Given the description of an element on the screen output the (x, y) to click on. 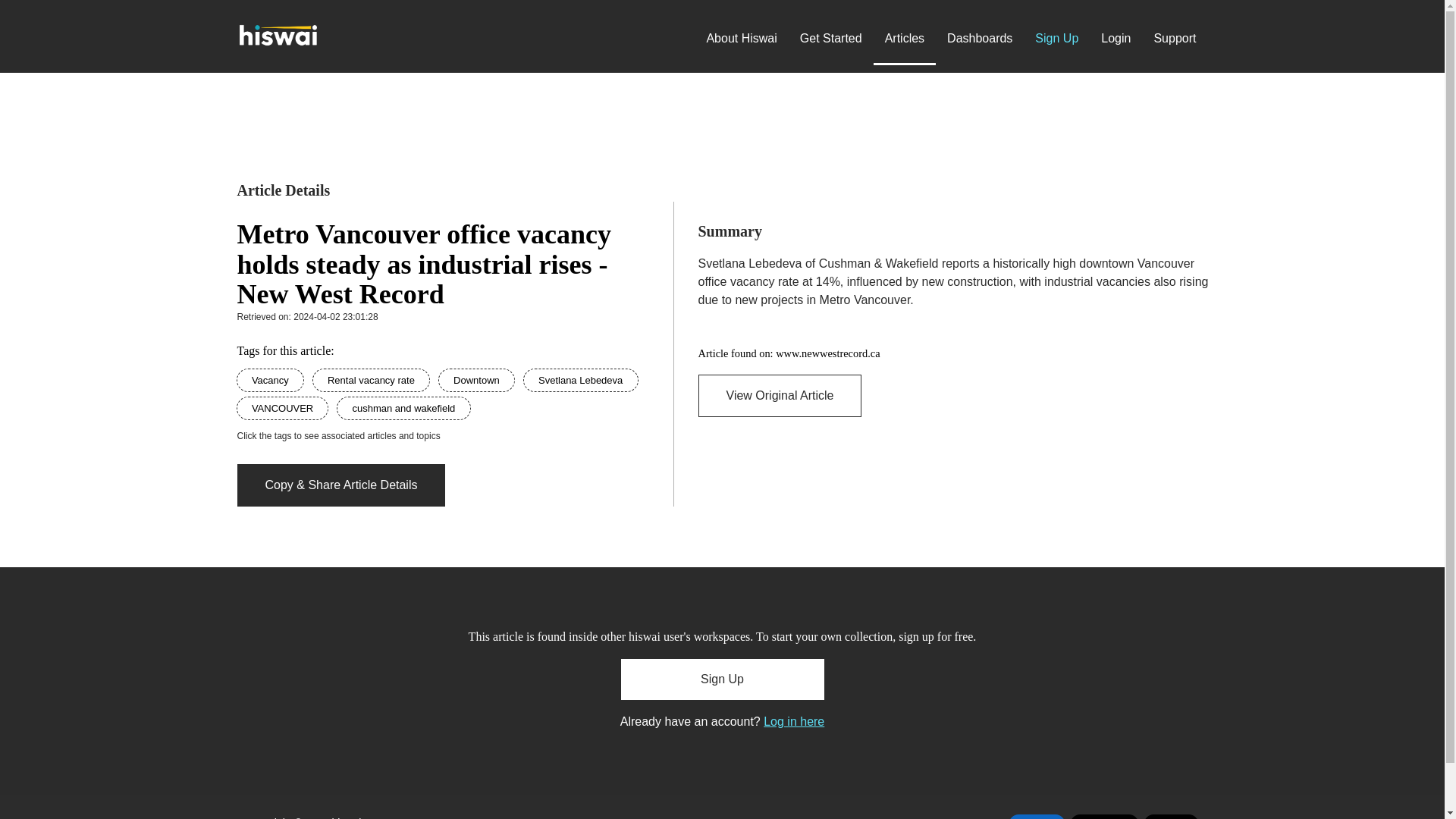
cushman and wakefield (403, 407)
Support (1174, 38)
Rental vacancy rate (372, 379)
Sign Up (1056, 38)
Sign Up (722, 679)
Downtown (478, 379)
Vacancy (270, 379)
Svetlana Lebedeva (580, 379)
VANCOUVER (283, 407)
Get Started (831, 38)
View Original Article (779, 395)
Log in here (793, 721)
Dashboards (979, 38)
Articles (904, 38)
Hiswai on X (1104, 816)
